Given the description of an element on the screen output the (x, y) to click on. 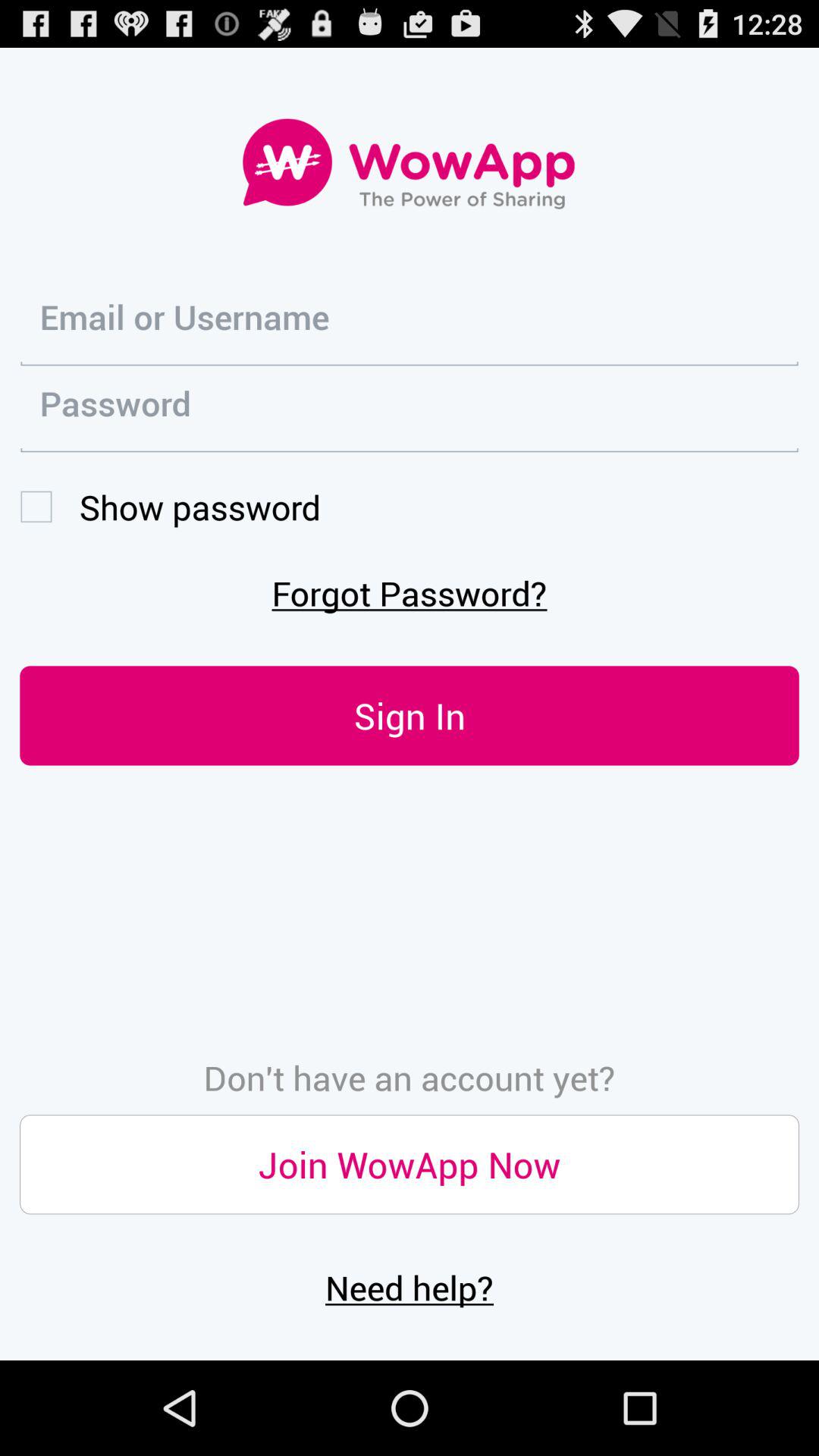
click the checkbox on the left (169, 507)
